Given the description of an element on the screen output the (x, y) to click on. 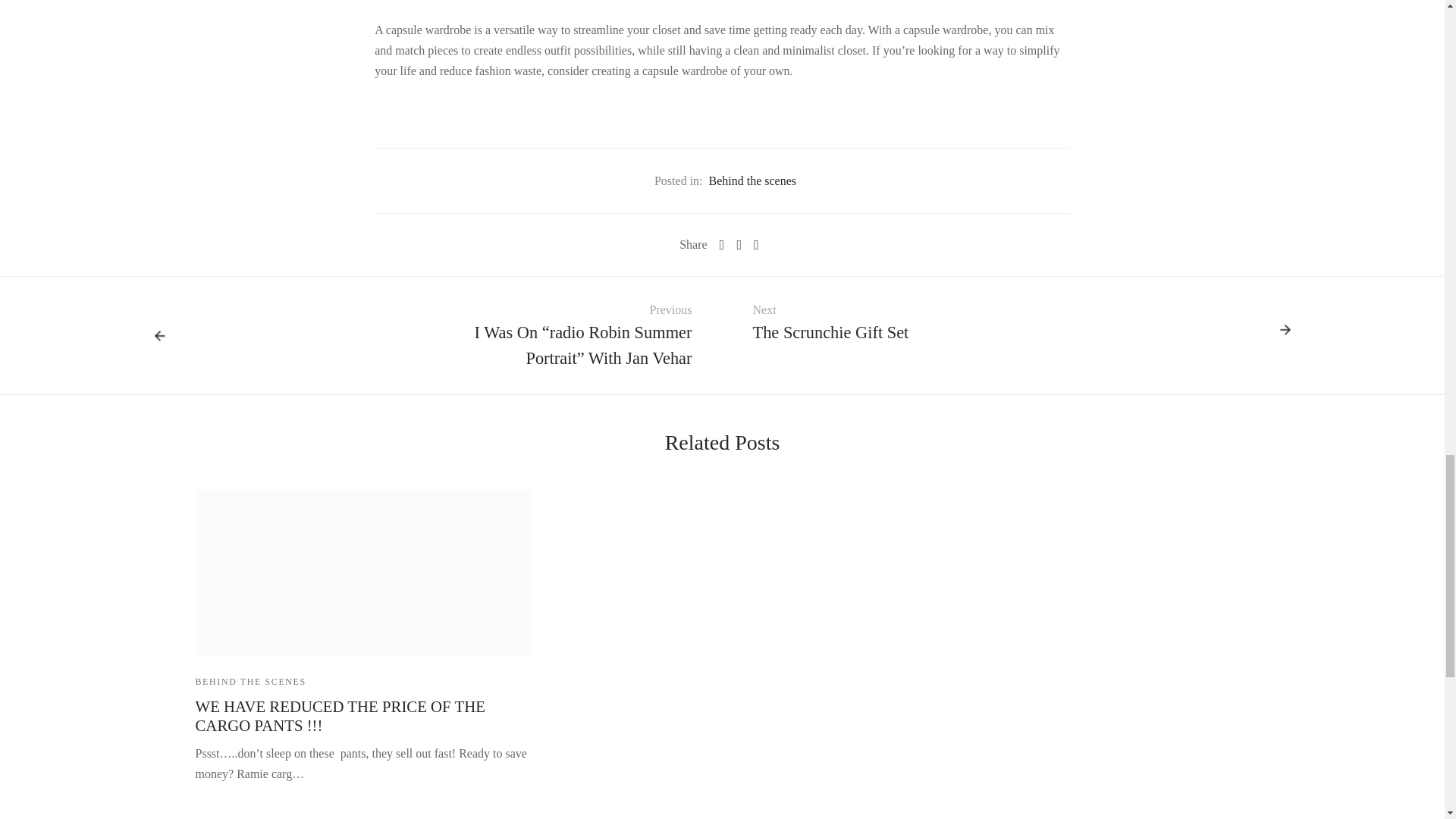
WE HAVE REDUCED THE PRICE OF THE CARGO PANTS !!! (339, 715)
WE HAVE REDUCED THE PRICE OF THE CARGO PANTS !!! (363, 572)
Behind the scenes (752, 180)
